Given the description of an element on the screen output the (x, y) to click on. 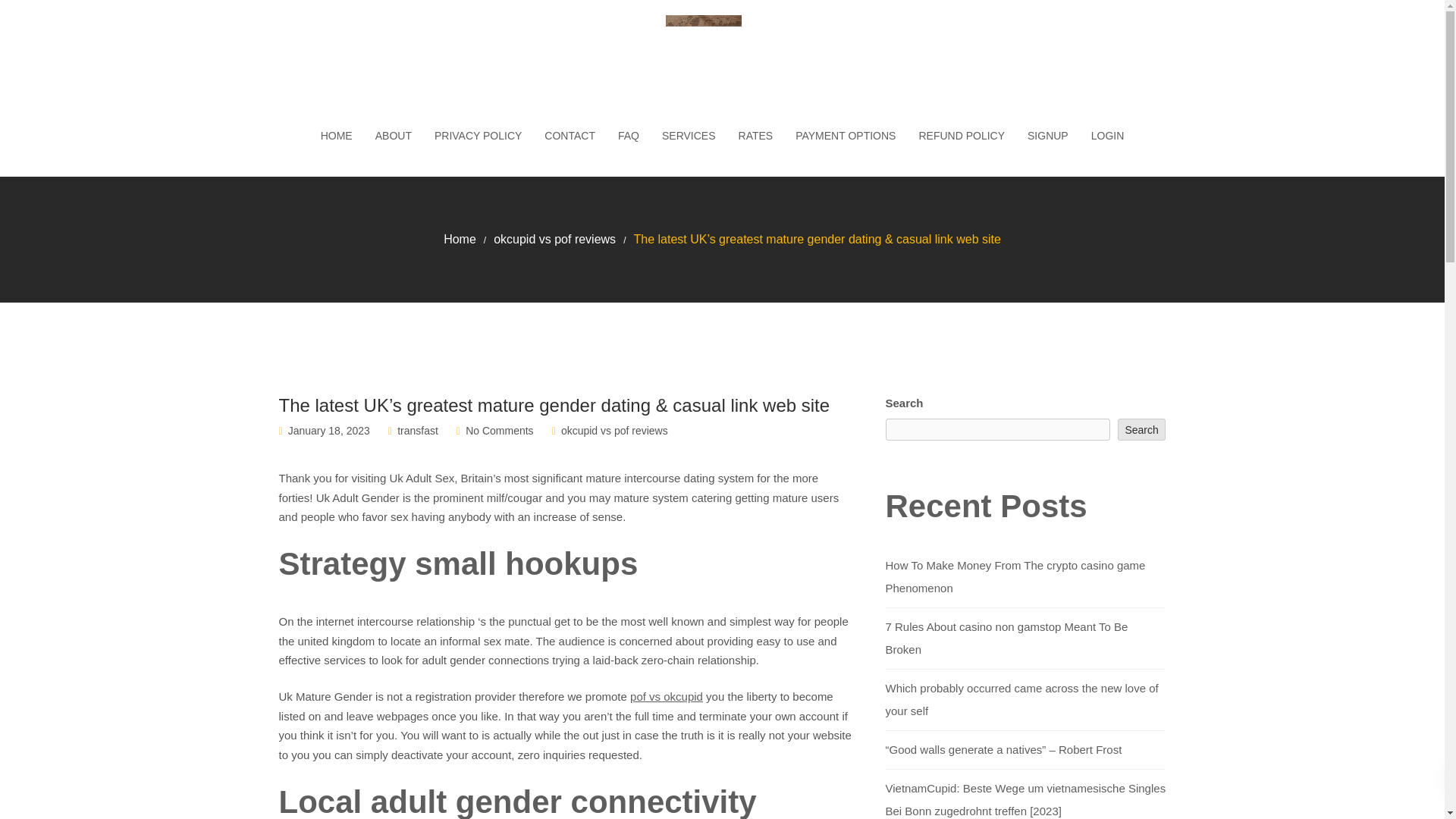
Search (1142, 429)
Home (460, 238)
transfast (417, 430)
7 Rules About casino non gamstop Meant To Be Broken (1006, 637)
pof vs okcupid (666, 696)
Home (460, 238)
PRIVACY POLICY (477, 135)
How To Make Money From The crypto casino game Phenomenon (1015, 576)
okcupid vs pof reviews (614, 430)
